Given the description of an element on the screen output the (x, y) to click on. 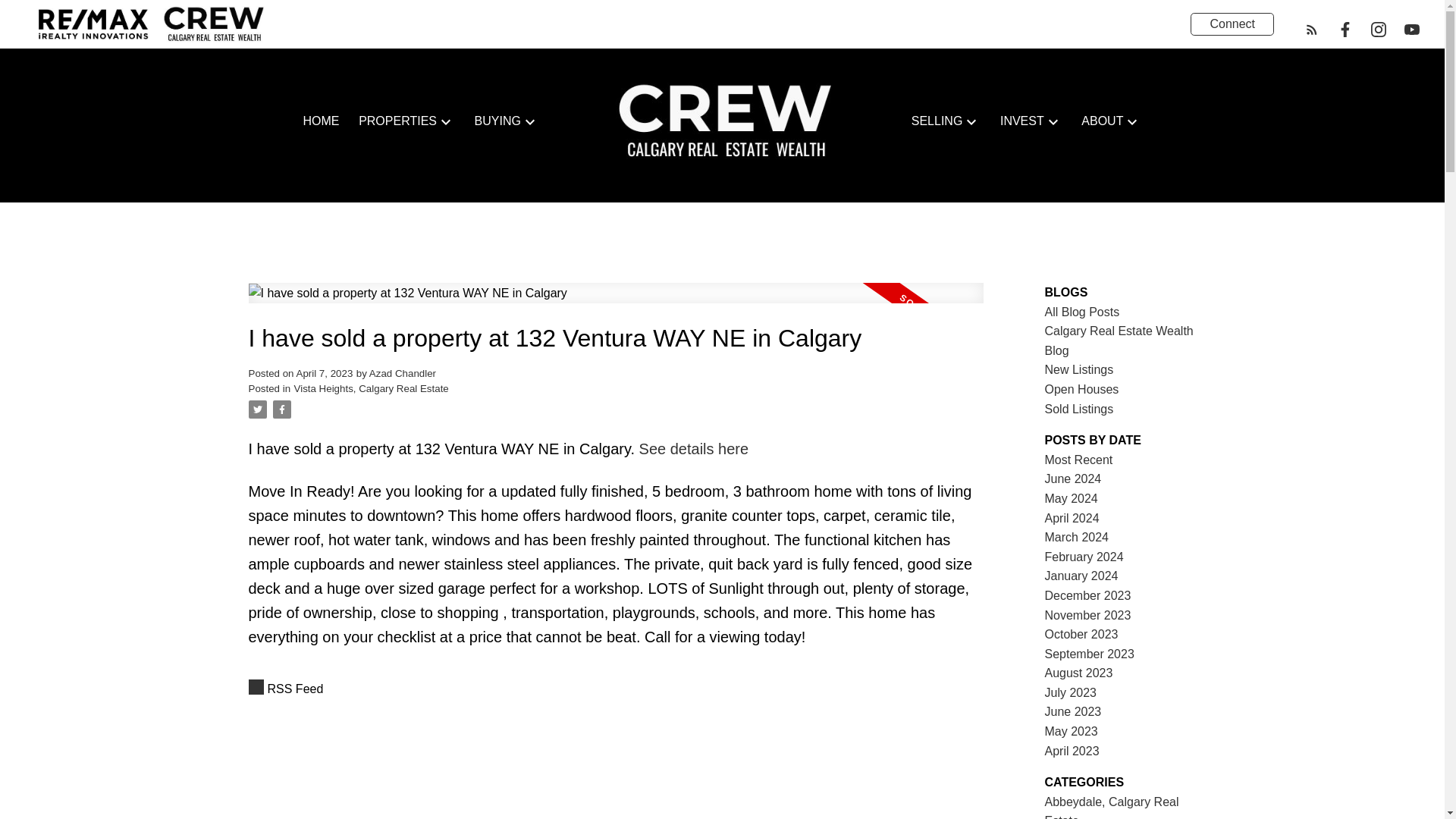
Calgary Real Estate Wealth Blog (1119, 340)
BUYING (497, 121)
RSS (616, 689)
PROPERTIES (397, 121)
SELLING (936, 121)
See details here (694, 448)
Connect (1232, 24)
All Blog Posts (1082, 311)
ABOUT (1101, 121)
INVEST (1021, 121)
New Listings (1079, 369)
Vista Heights, Calgary Real Estate (371, 388)
HOME (320, 121)
